Given the description of an element on the screen output the (x, y) to click on. 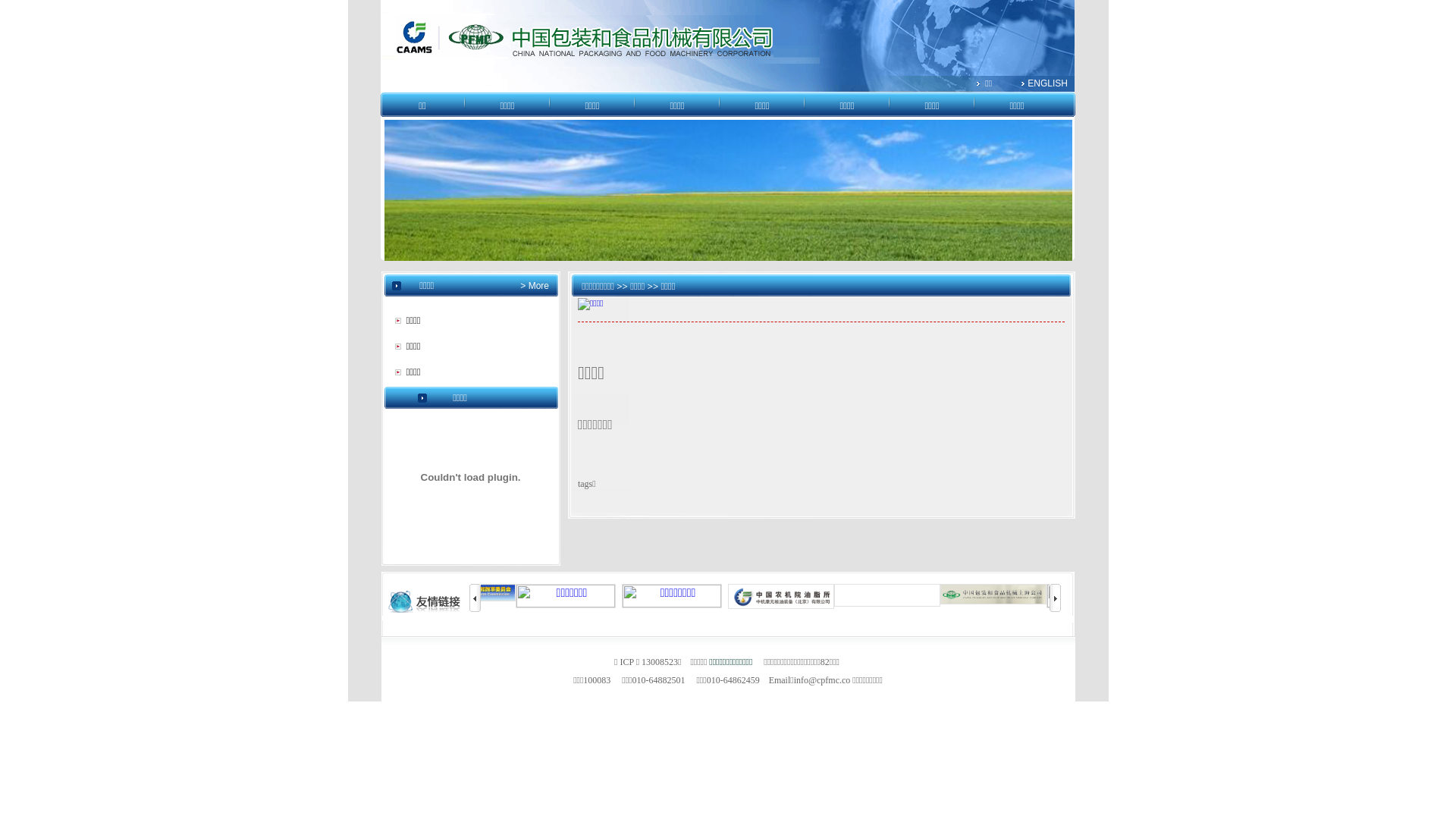
 More Element type: text (537, 285)
ENGLISH Element type: text (1047, 83)
